Given the description of an element on the screen output the (x, y) to click on. 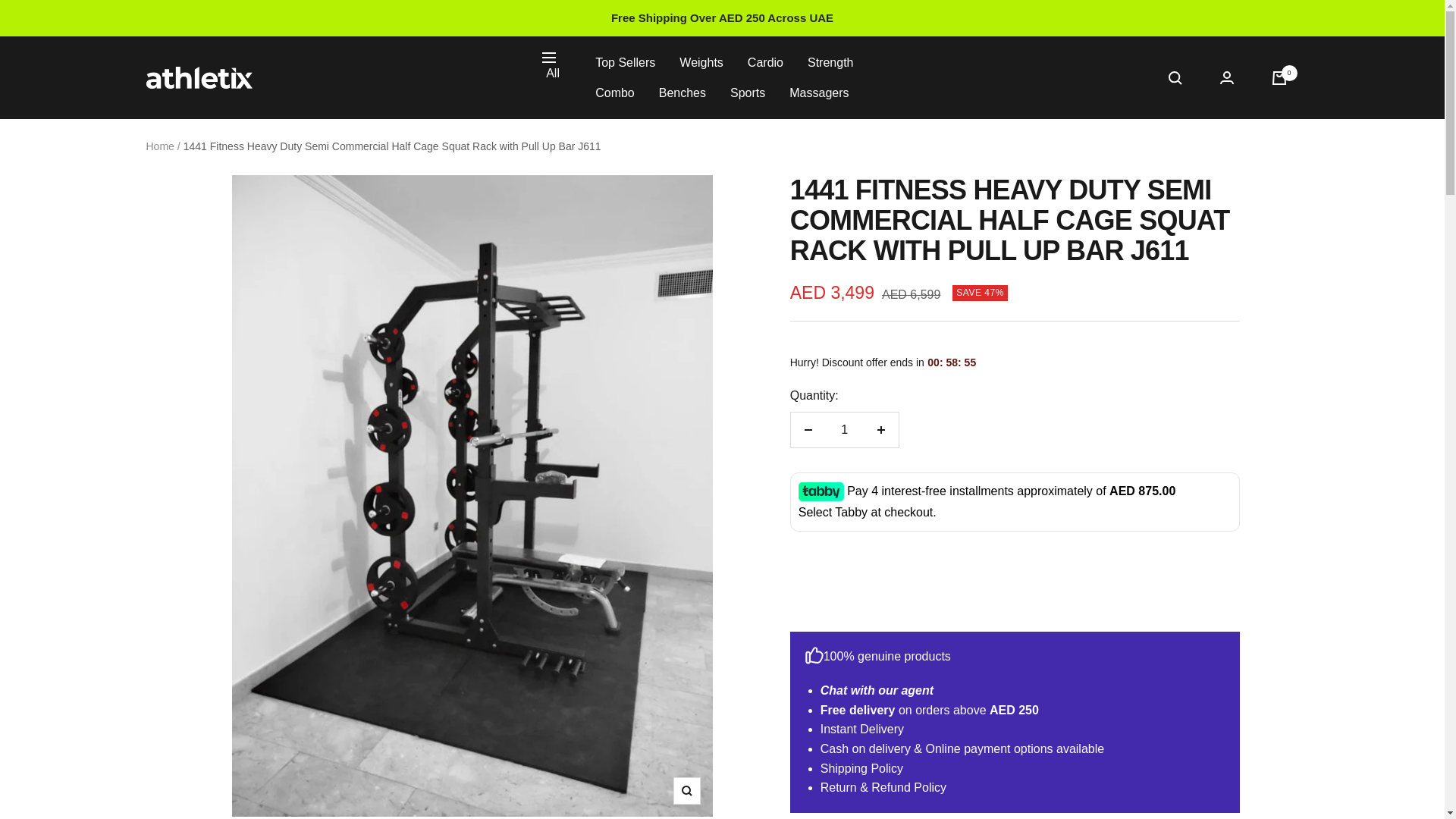
1 (844, 429)
Top Sellers (625, 62)
Combo (614, 93)
Sports (747, 93)
Weights (701, 62)
Benches (682, 93)
Strength (830, 62)
0 (1279, 78)
Athletix.ae (198, 77)
Massagers (818, 93)
